Given the description of an element on the screen output the (x, y) to click on. 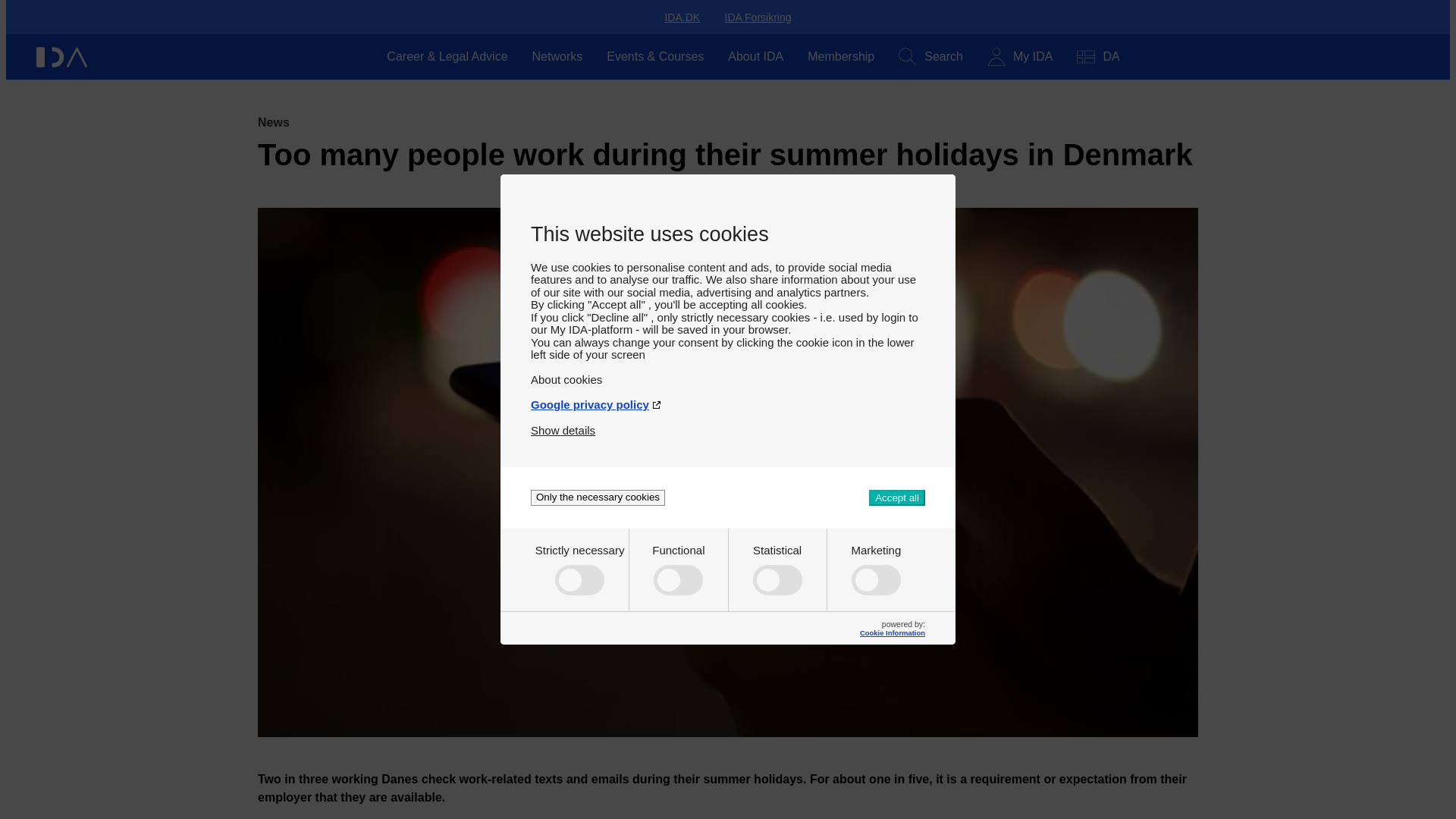
About cookies (727, 373)
Google privacy policy (727, 398)
Show details (563, 423)
